Given the description of an element on the screen output the (x, y) to click on. 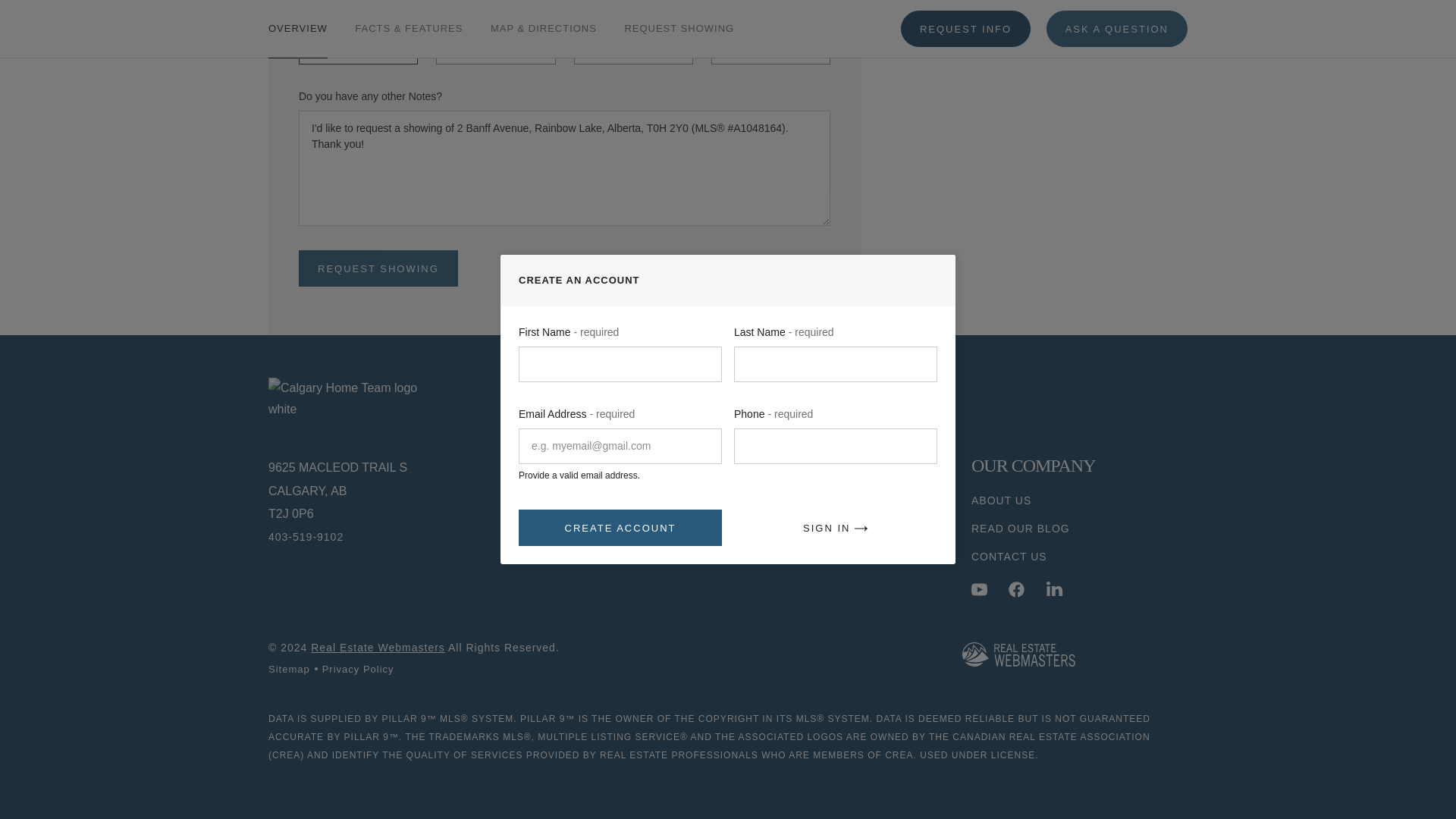
FACEBOOK (1017, 589)
YOUTUBE (979, 589)
LINKEDIN (1054, 589)
